Given the description of an element on the screen output the (x, y) to click on. 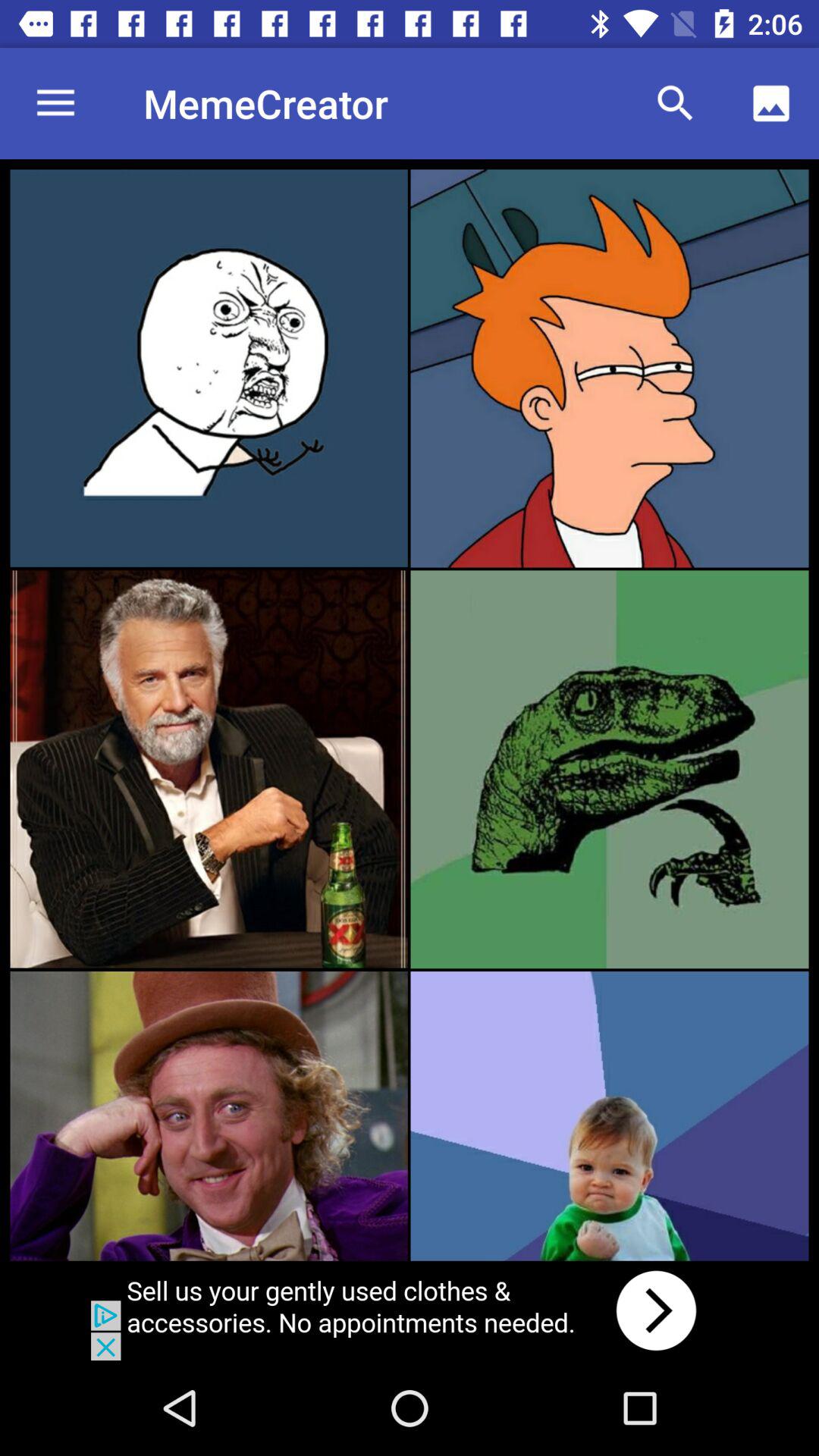
click to select (208, 769)
